Given the description of an element on the screen output the (x, y) to click on. 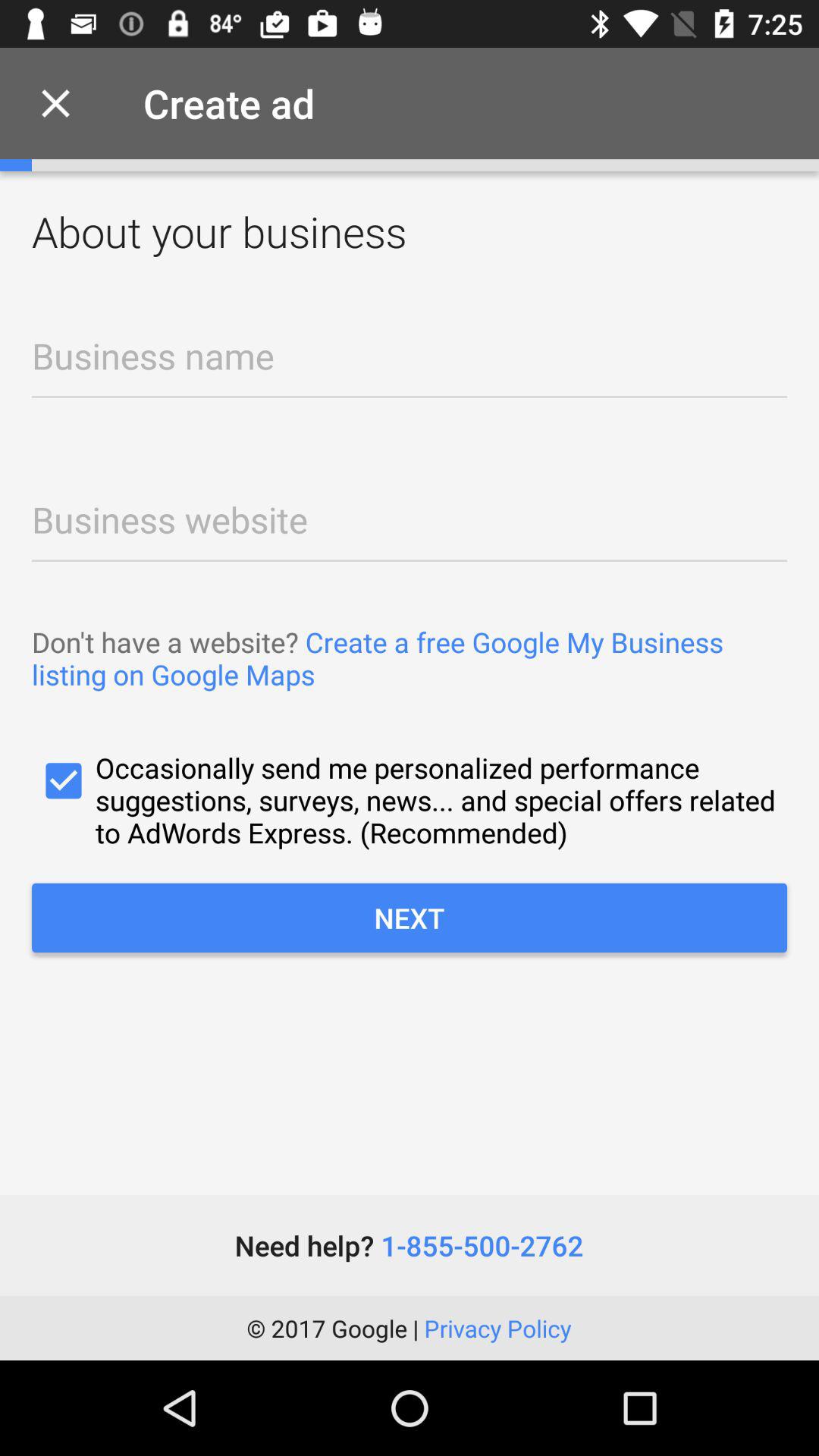
enter business name (409, 365)
